Given the description of an element on the screen output the (x, y) to click on. 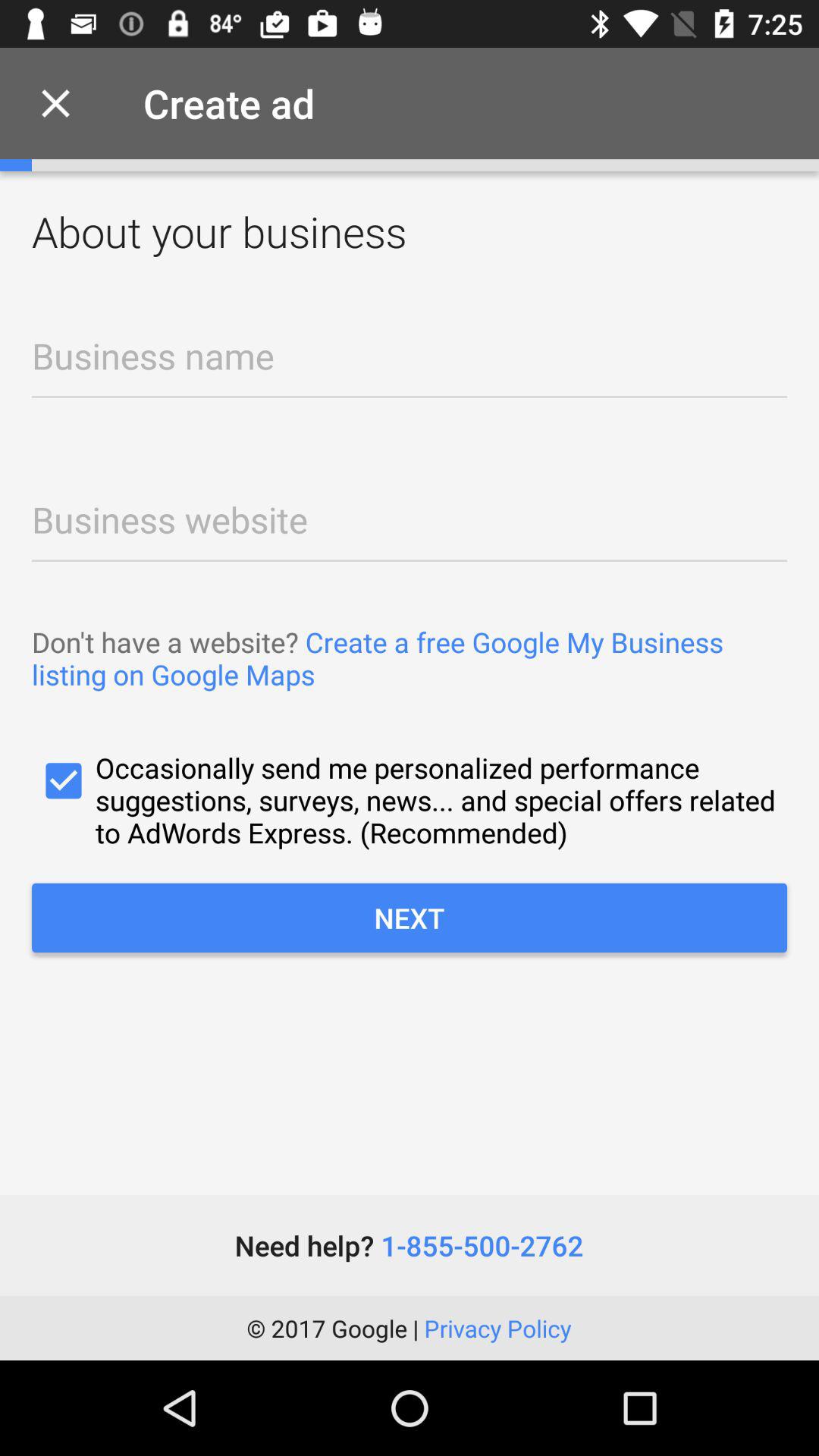
enter business name (409, 365)
